Given the description of an element on the screen output the (x, y) to click on. 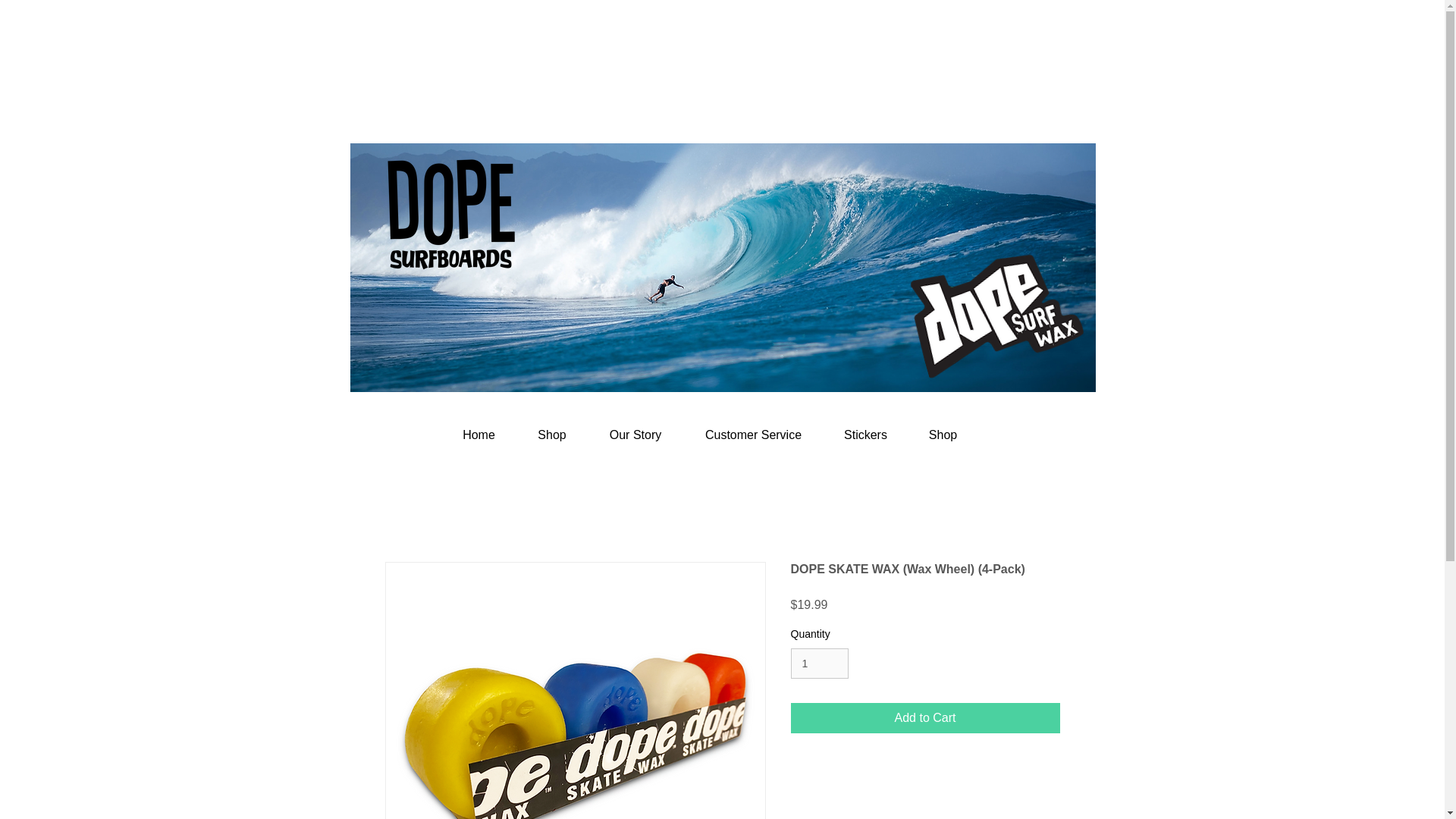
Shop (552, 435)
Customer Service (754, 435)
Our Story (634, 435)
Home (478, 435)
Stickers (866, 435)
Shop (943, 435)
1 (818, 663)
Add to Cart (924, 717)
